Given the description of an element on the screen output the (x, y) to click on. 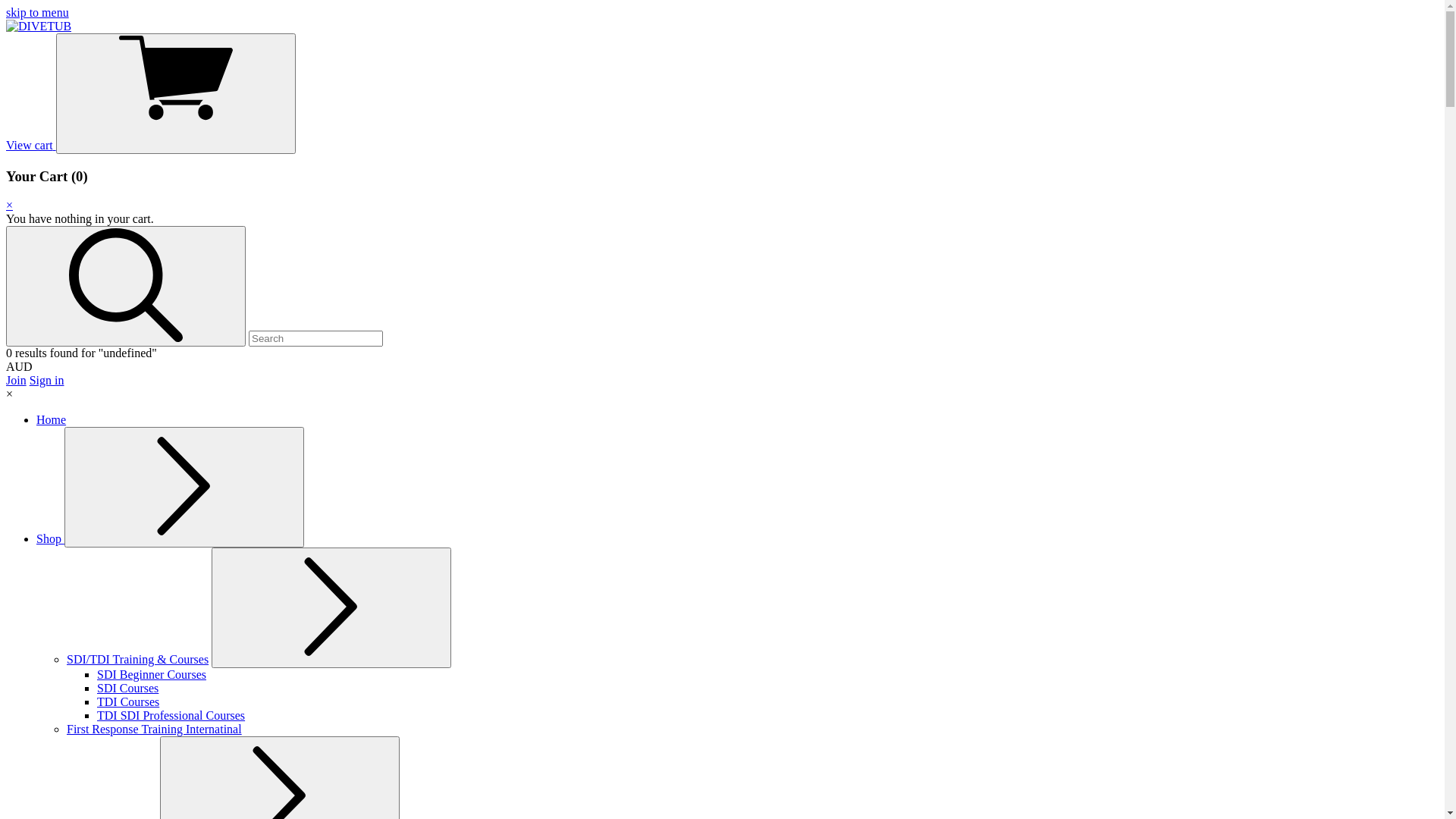
Sign in Element type: text (46, 379)
First Response Training Internatinal Element type: text (153, 728)
View cart Element type: text (150, 144)
SDI/TDI Training & Courses Element type: text (137, 658)
0 results found for "undefined" Element type: text (81, 352)
TDI SDI Professional Courses Element type: text (170, 715)
Shop Element type: text (50, 538)
SDI Beginner Courses Element type: text (151, 674)
skip to menu Element type: text (37, 12)
Join Element type: text (16, 379)
SDI Courses Element type: text (127, 687)
Home Element type: text (50, 419)
TDI Courses Element type: text (128, 701)
